Given the description of an element on the screen output the (x, y) to click on. 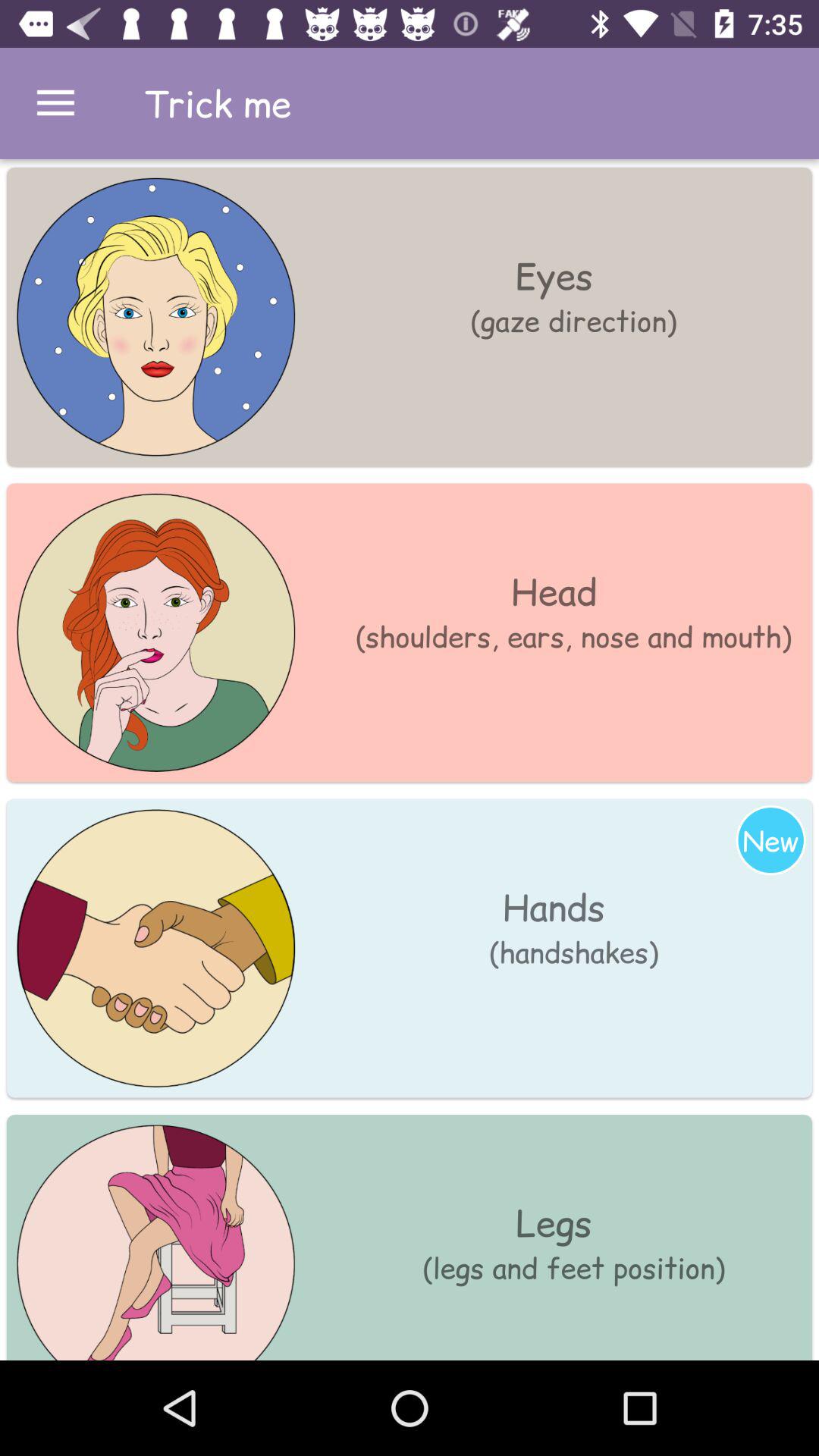
click menu (55, 103)
